Given the description of an element on the screen output the (x, y) to click on. 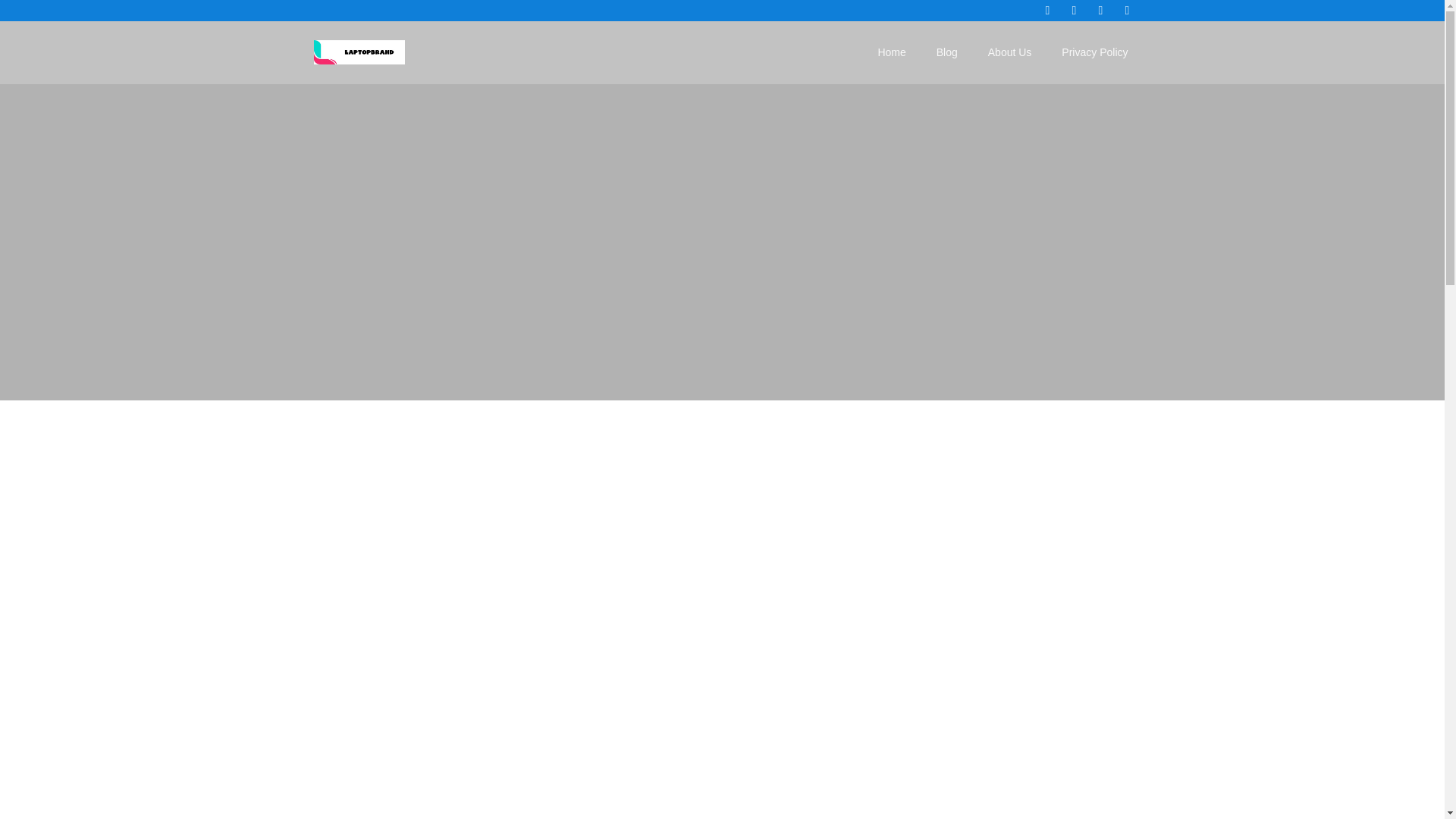
About Us (1009, 52)
About Us (1009, 52)
Privacy Policy (1094, 52)
Home (890, 52)
laptopbrand (359, 52)
Twitter (1073, 10)
Blog (946, 52)
Privacy Policy (1094, 52)
Dribbble (1126, 10)
Instagram (1101, 10)
Blog (946, 52)
Facebook (1047, 10)
